Given the description of an element on the screen output the (x, y) to click on. 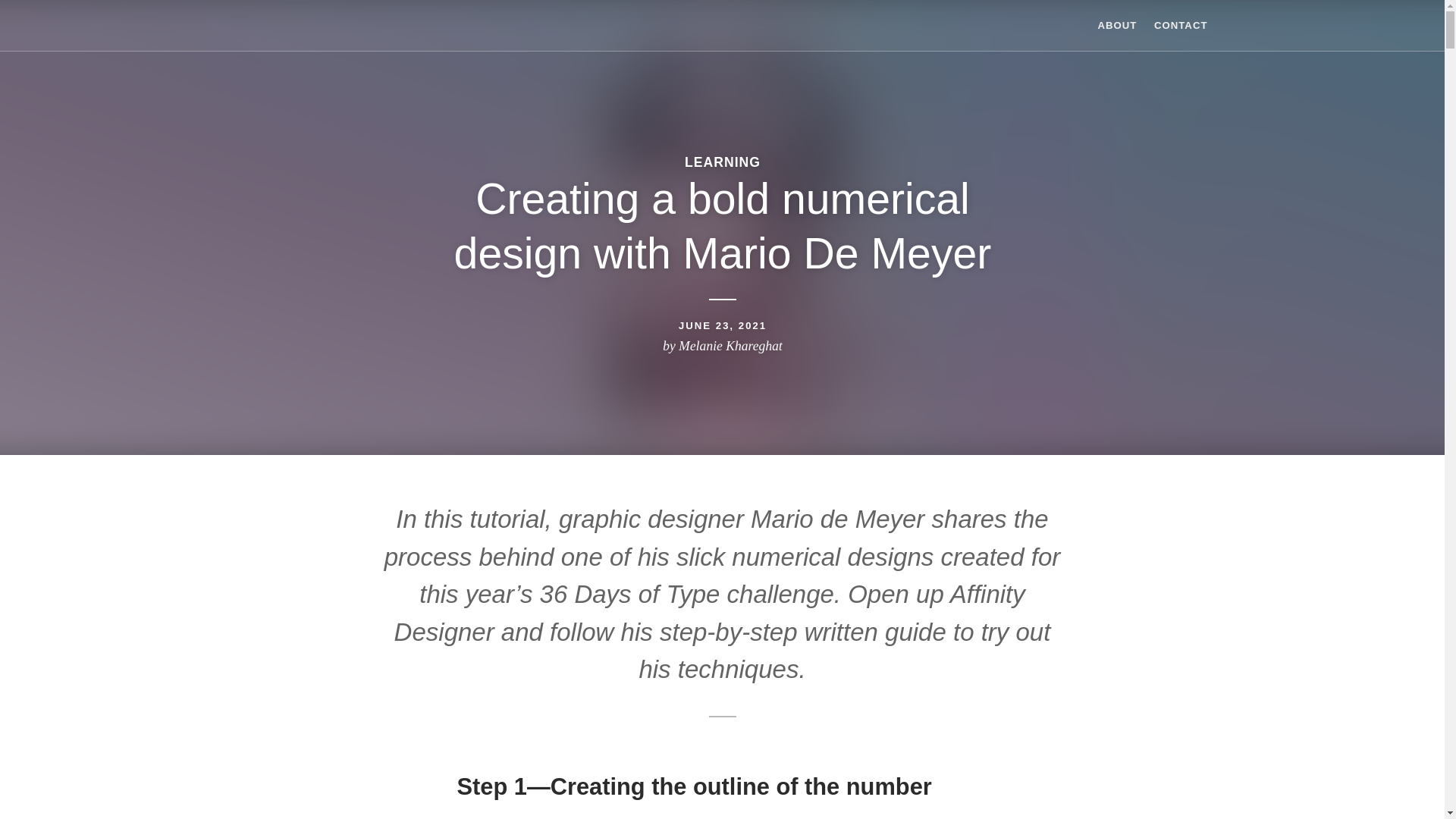
ABOUT (1117, 25)
CONTACT (1180, 25)
Go to the homepage (289, 23)
